Given the description of an element on the screen output the (x, y) to click on. 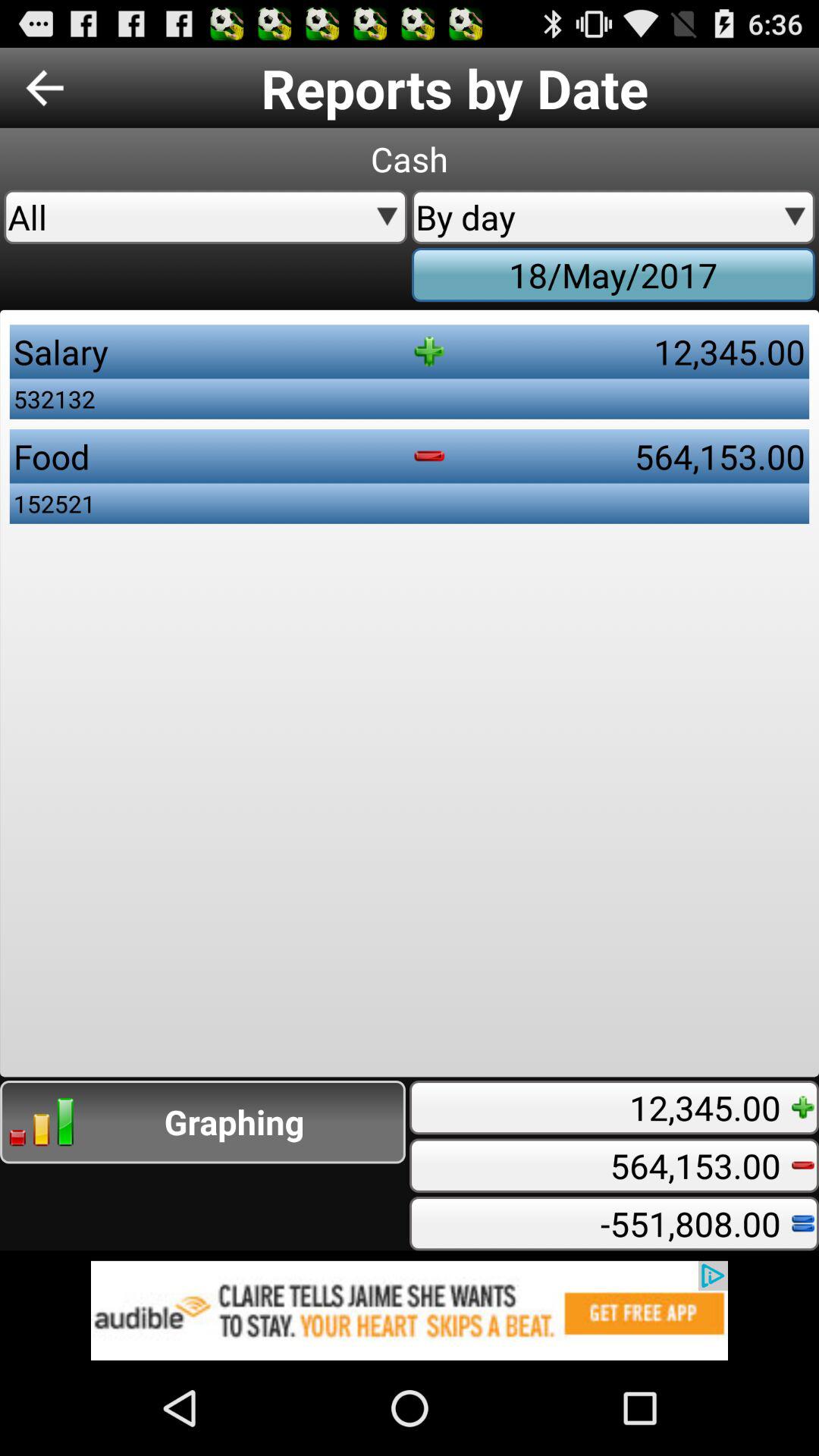
advertisement (409, 1310)
